Given the description of an element on the screen output the (x, y) to click on. 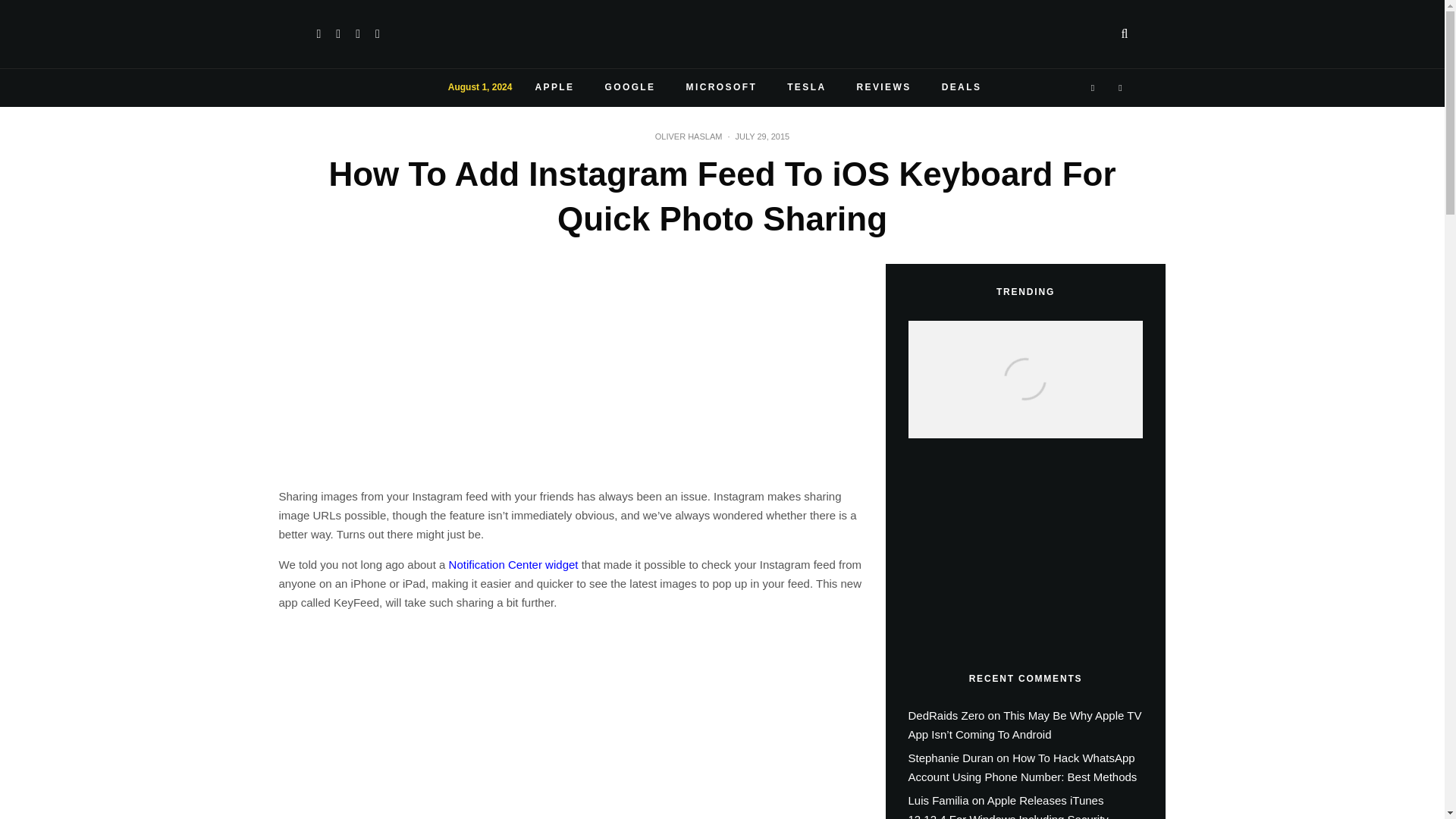
GOOGLE (629, 87)
MICROSOFT (722, 87)
TESLA (806, 87)
APPLE (554, 87)
